Given the description of an element on the screen output the (x, y) to click on. 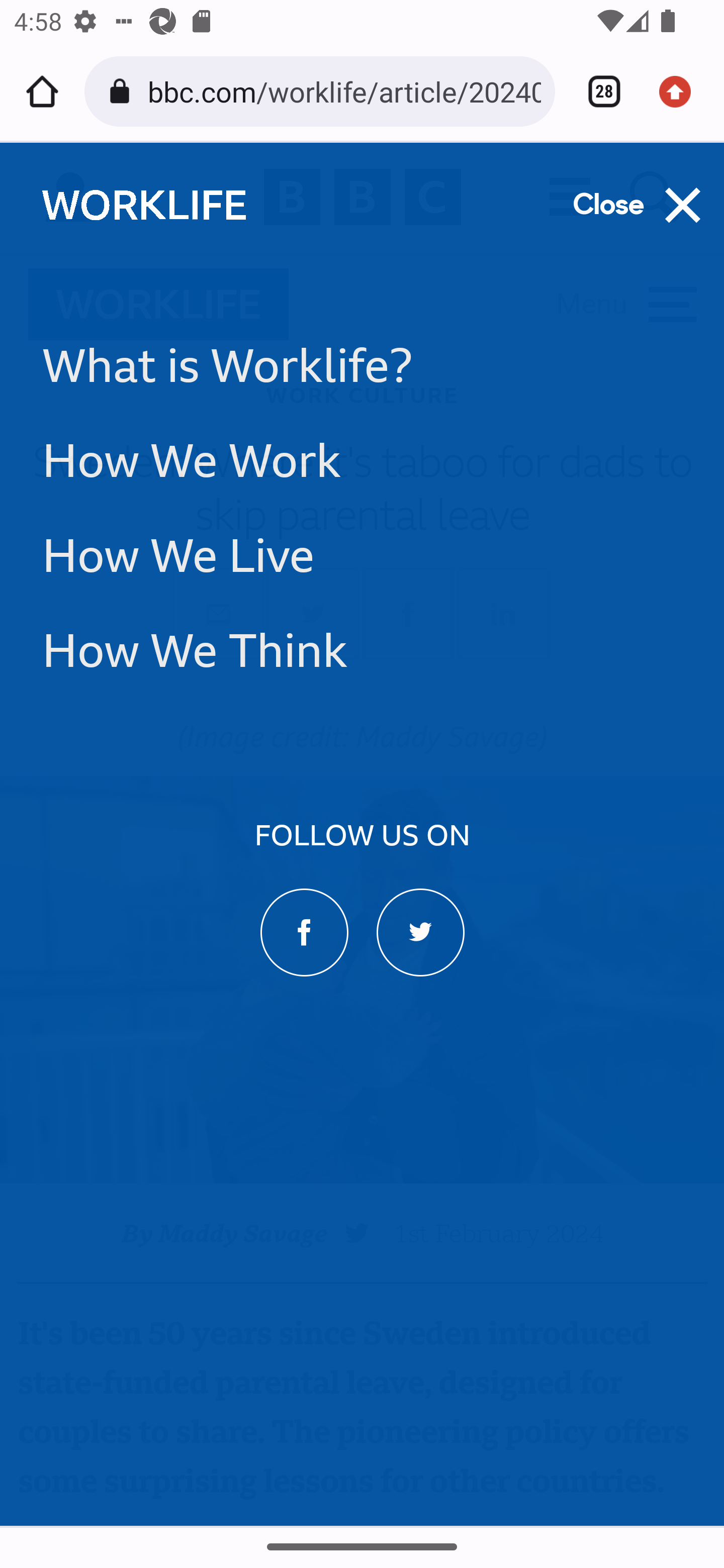
Home (42, 91)
Connection is secure (122, 91)
Switch or close tabs (597, 91)
Update available. More options (681, 91)
All BBC destinations menu (570, 197)
Search BBC (655, 197)
Sign in (70, 198)
